Given the description of an element on the screen output the (x, y) to click on. 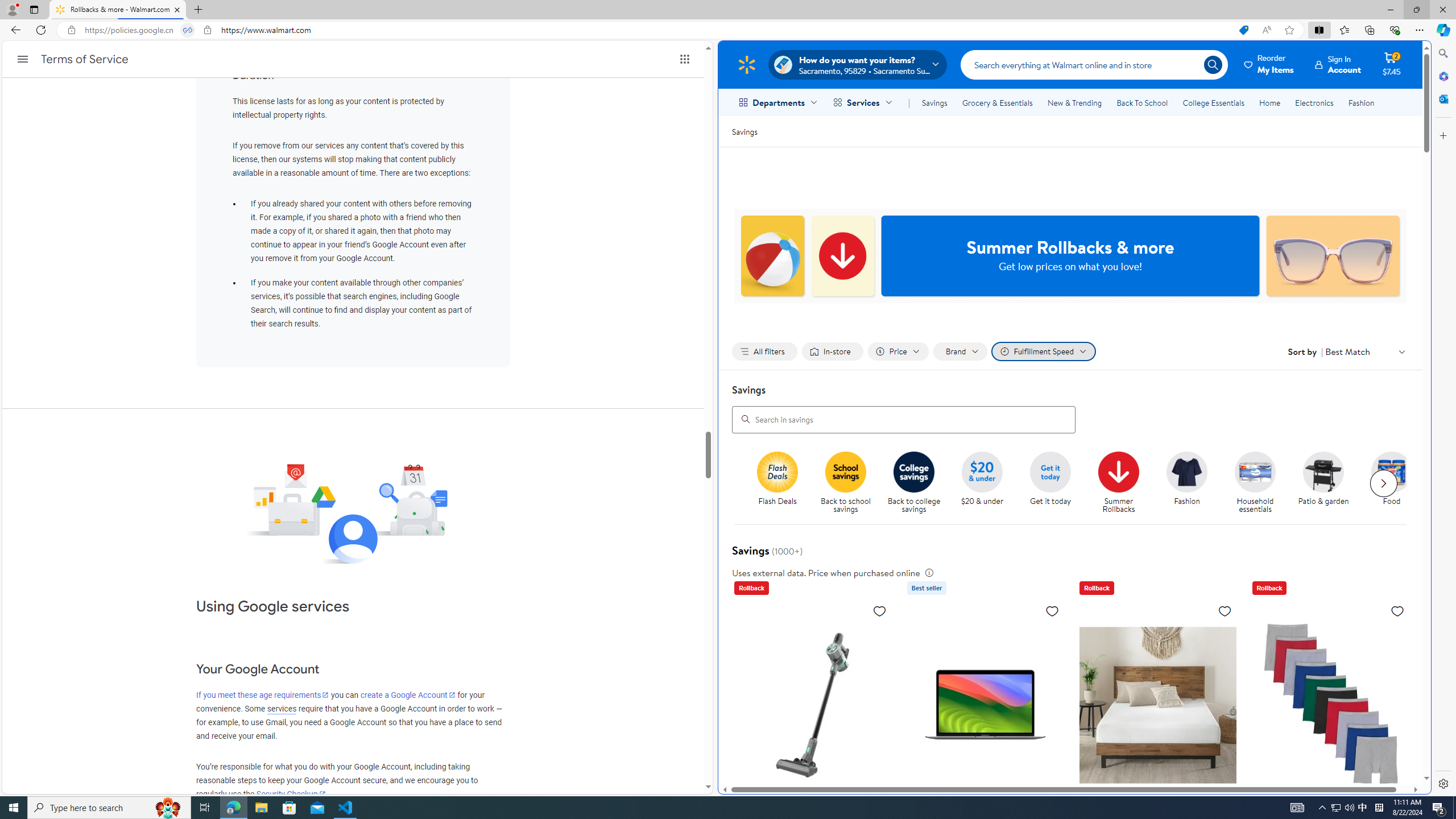
Back To School (1141, 102)
Household essentials (1259, 483)
Summer Rollbacks (1117, 471)
Back to school savings (849, 483)
Summer Rollbacks & more Get low prices on what you love! (1069, 255)
This site has coupons! Shopping in Microsoft Edge, 7 (1243, 29)
Grocery & Essentials (997, 102)
